Given the description of an element on the screen output the (x, y) to click on. 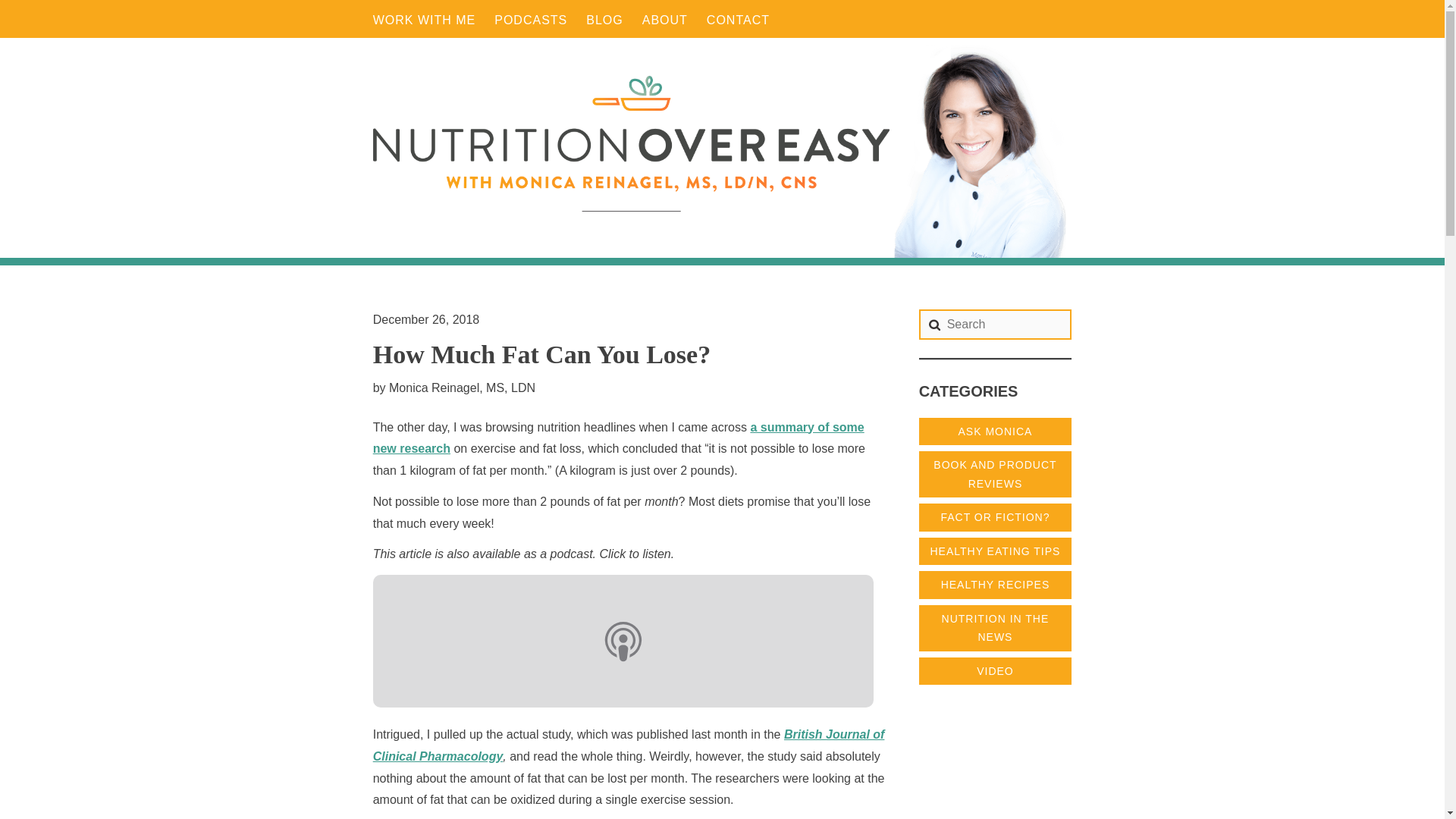
ABOUT (664, 20)
HEALTHY EATING TIPS (994, 551)
FACT OR FICTION? (994, 517)
VIDEO (994, 671)
a summary of some new research (618, 437)
Monica Reinagel, MS, LDN (461, 386)
ASK MONICA (994, 431)
Journal of Clinical Pharmacology (628, 745)
CONTACT (738, 20)
WORK WITH ME (424, 20)
